Given the description of an element on the screen output the (x, y) to click on. 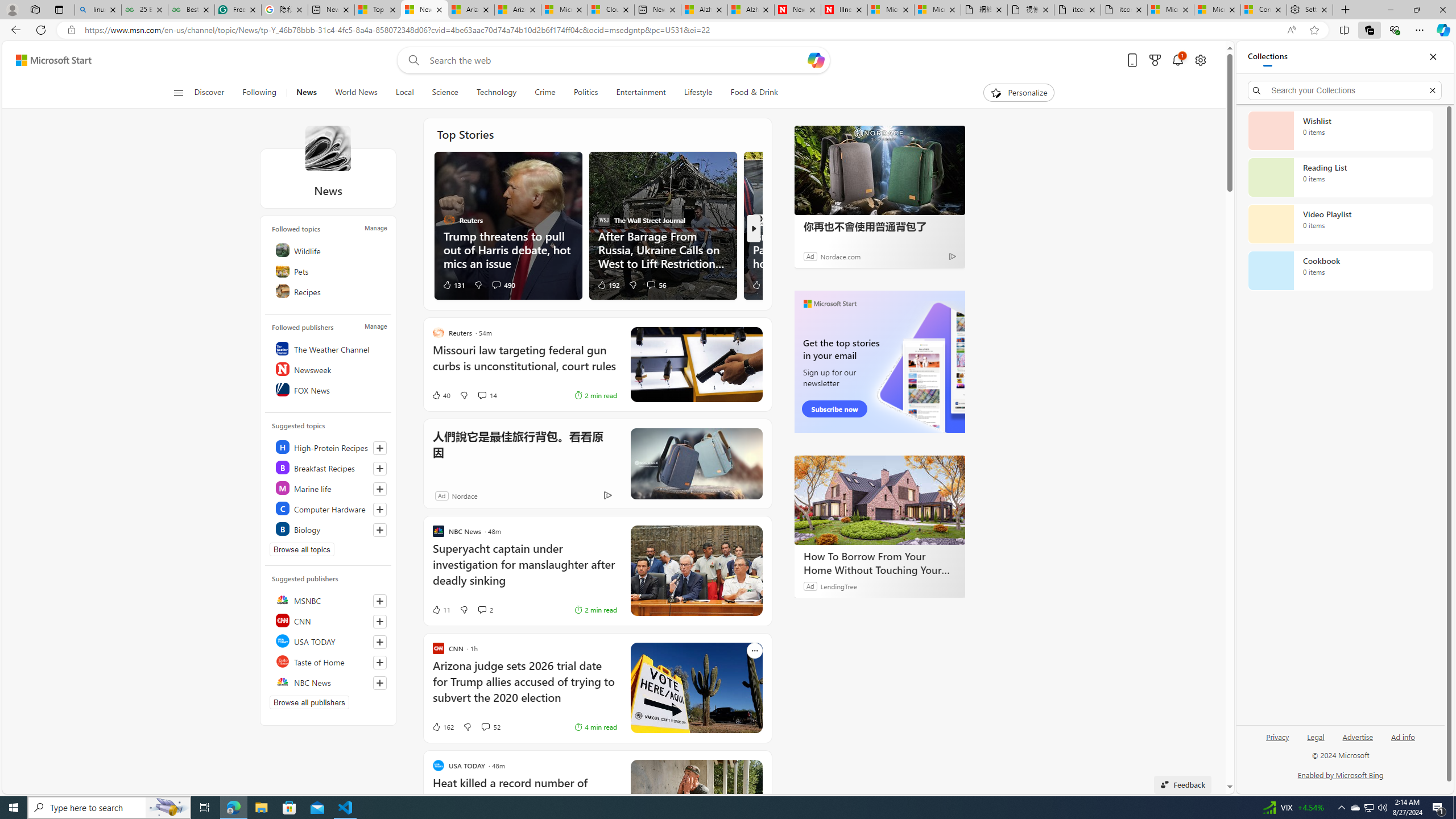
Taste of Home (328, 661)
View comments 14 Comment (487, 395)
Newsweek (328, 369)
Local (403, 92)
Free AI Writing Assistance for Students | Grammarly (237, 9)
Ad info (1402, 741)
The Weather Channel (328, 348)
Manage (375, 326)
40 Like (440, 395)
Subscribe now (834, 408)
